Given the description of an element on the screen output the (x, y) to click on. 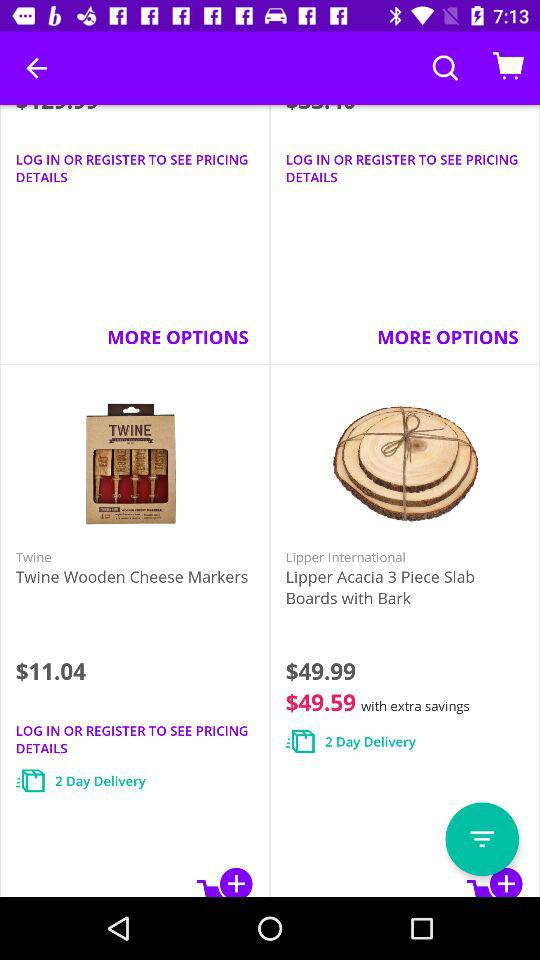
press the icon above the $129.99 icon (36, 68)
